Given the description of an element on the screen output the (x, y) to click on. 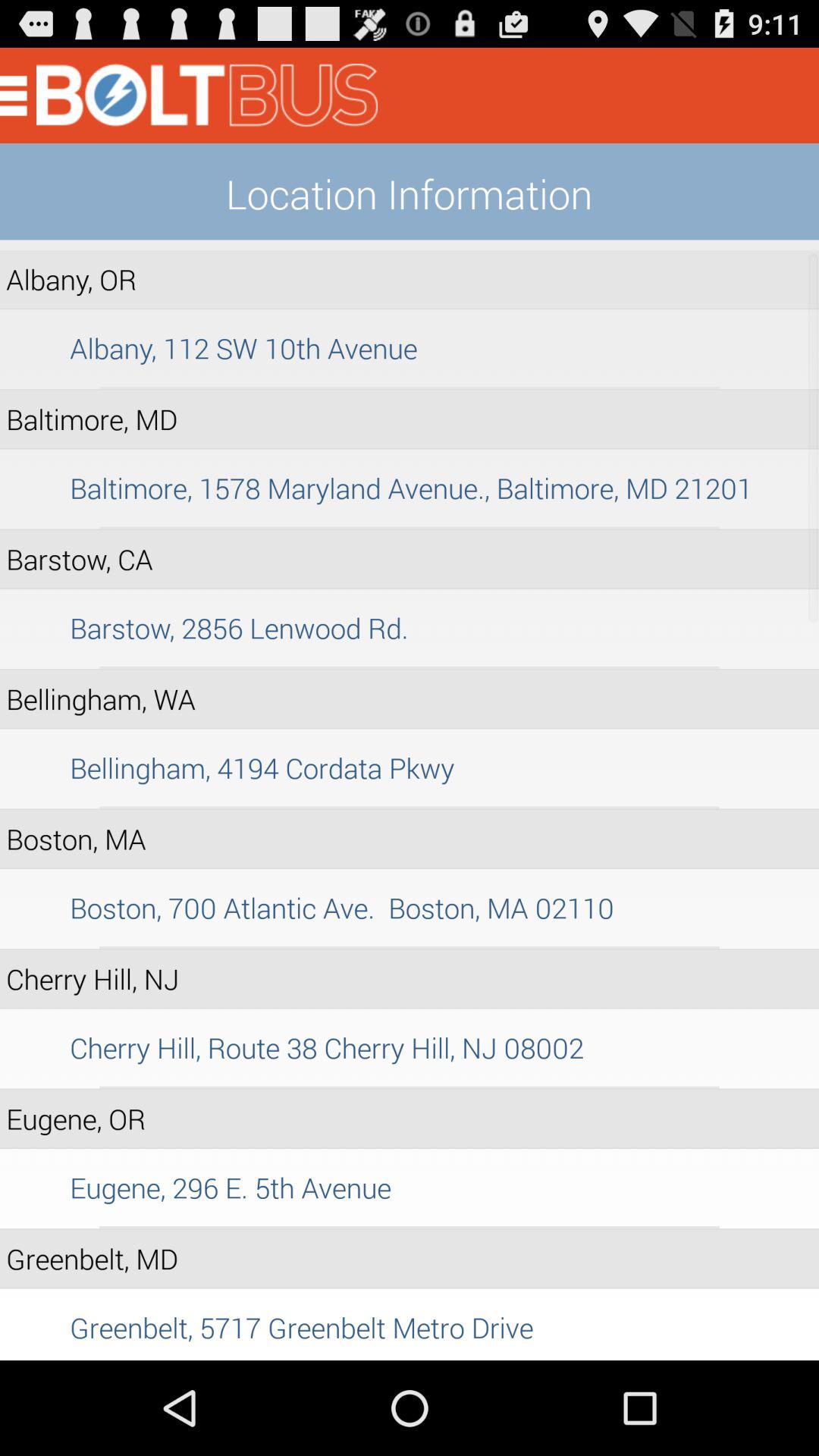
click app below the barstow 2856 lenwood item (409, 667)
